Given the description of an element on the screen output the (x, y) to click on. 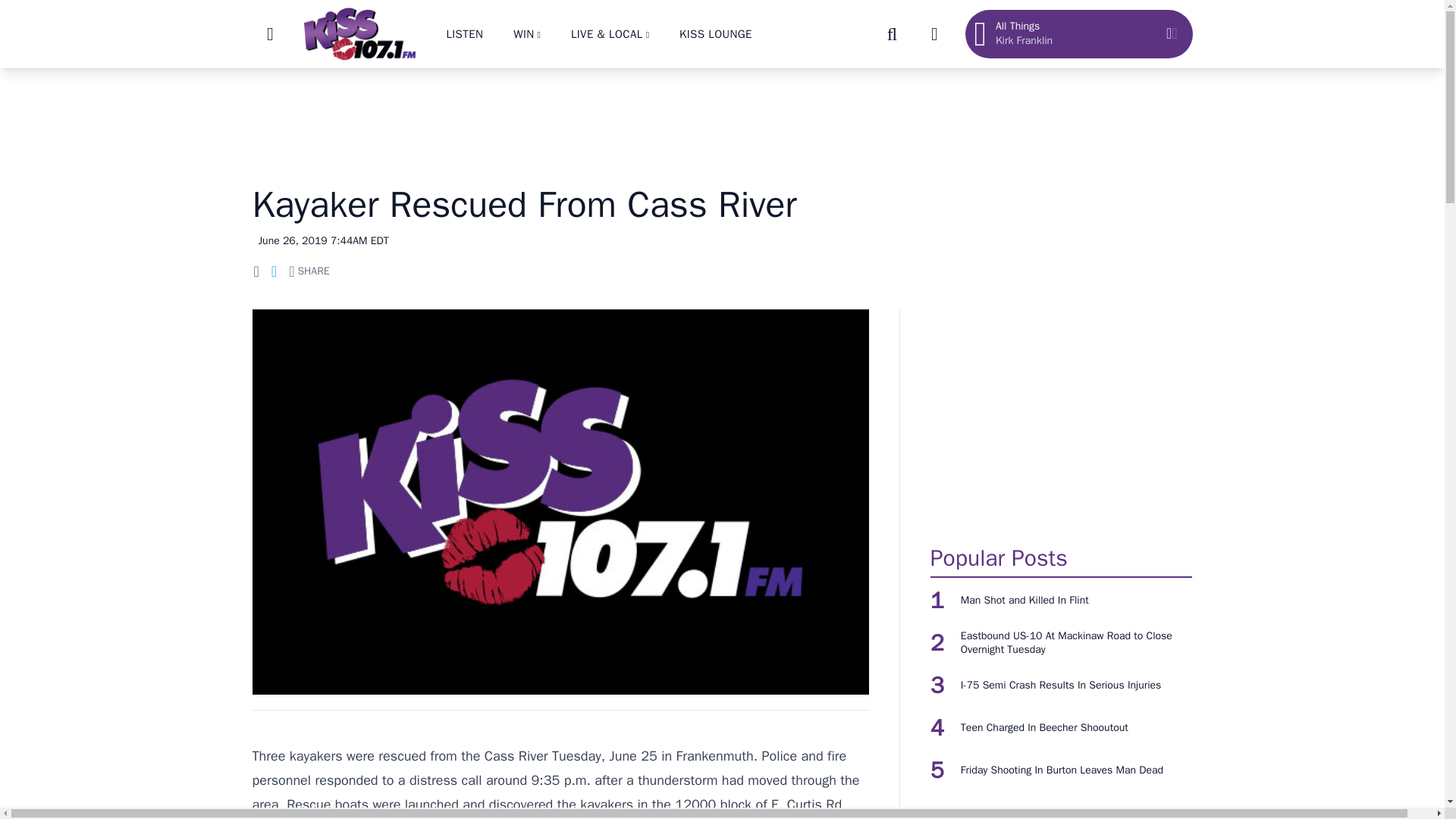
Kiss 107.1 (358, 33)
3rd party ad content (1060, 419)
3rd party ad content (721, 117)
